Given the description of an element on the screen output the (x, y) to click on. 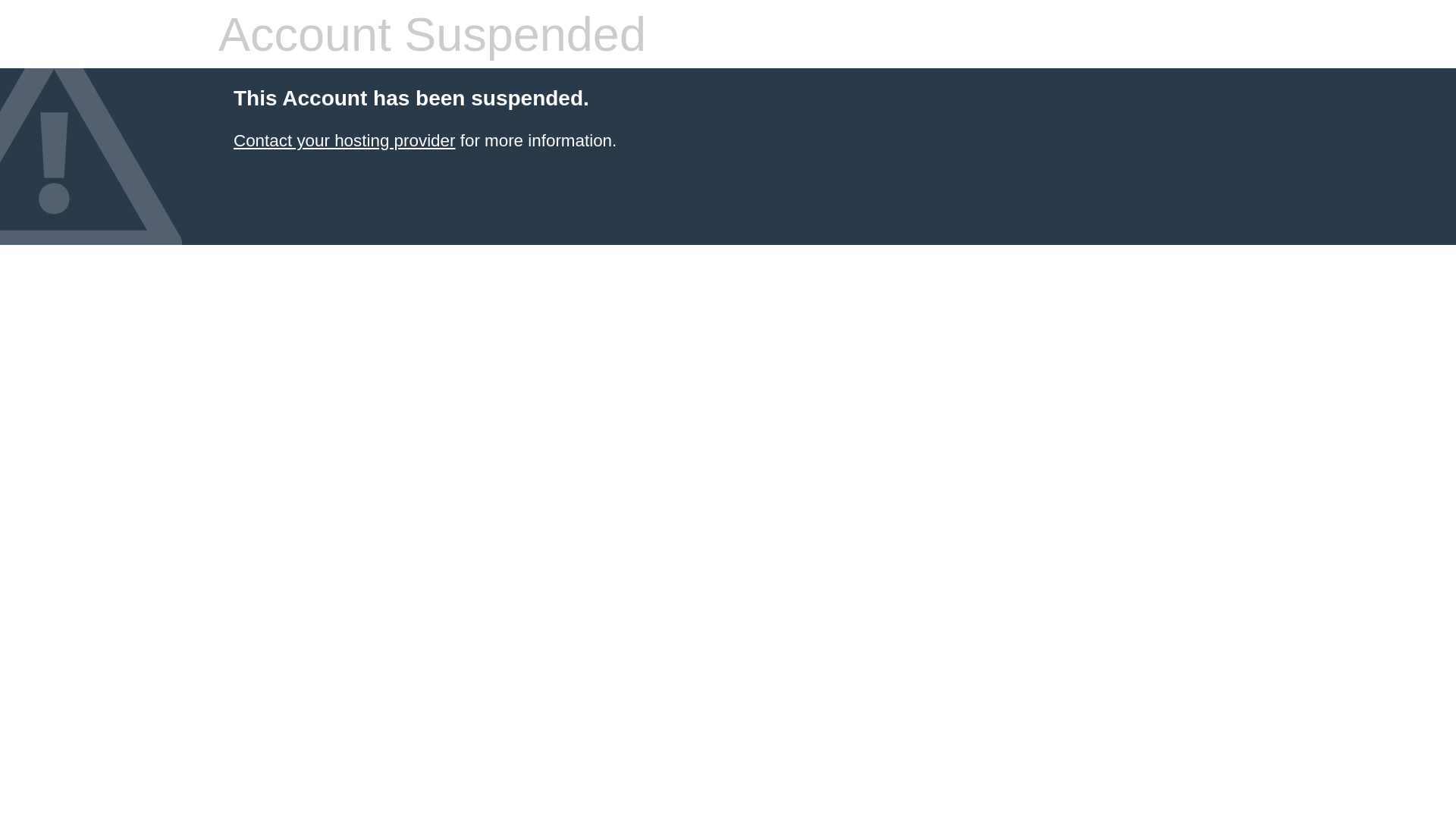
Contact your hosting provider Element type: text (344, 140)
